Given the description of an element on the screen output the (x, y) to click on. 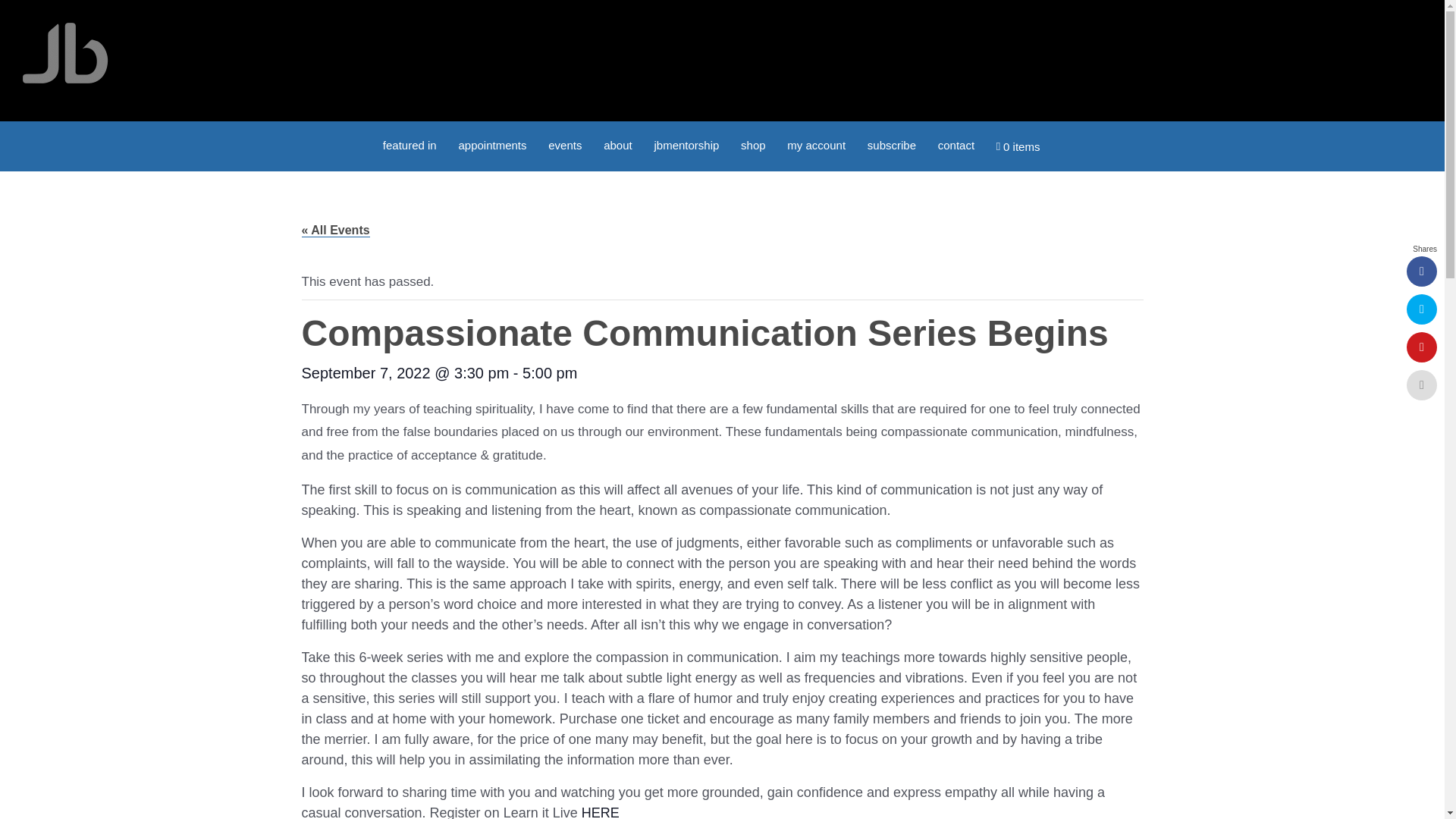
about (618, 144)
my account (815, 144)
appointments (491, 144)
jbmentorship (686, 144)
featured in (409, 144)
Jamie Butler. The Everyday Medium (65, 52)
events (564, 144)
Start shopping (1018, 146)
search (1061, 140)
0 items (1018, 146)
